Given the description of an element on the screen output the (x, y) to click on. 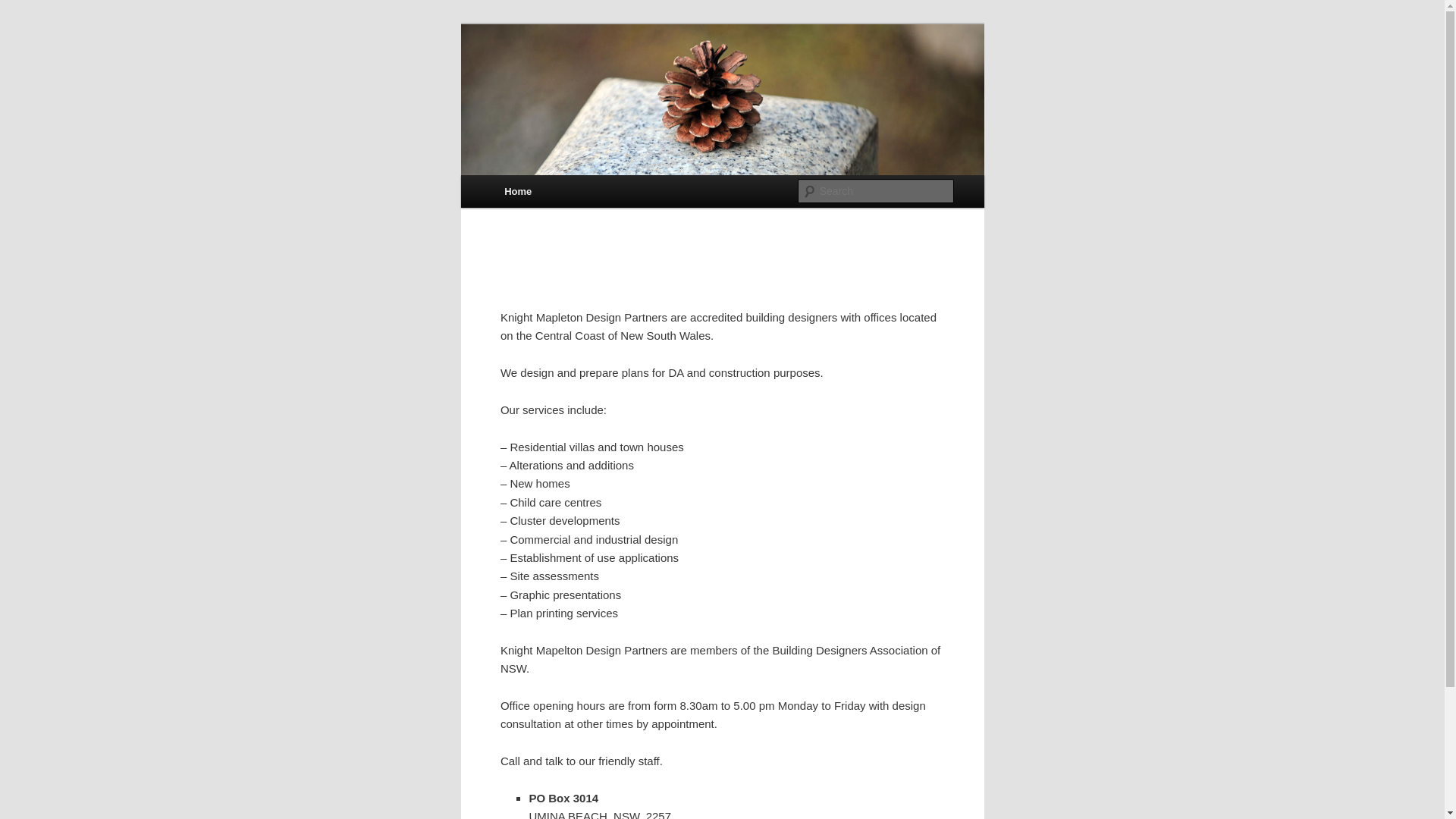
Skip to primary content Element type: text (22, 22)
Home Element type: text (517, 191)
Search Element type: text (24, 8)
